Given the description of an element on the screen output the (x, y) to click on. 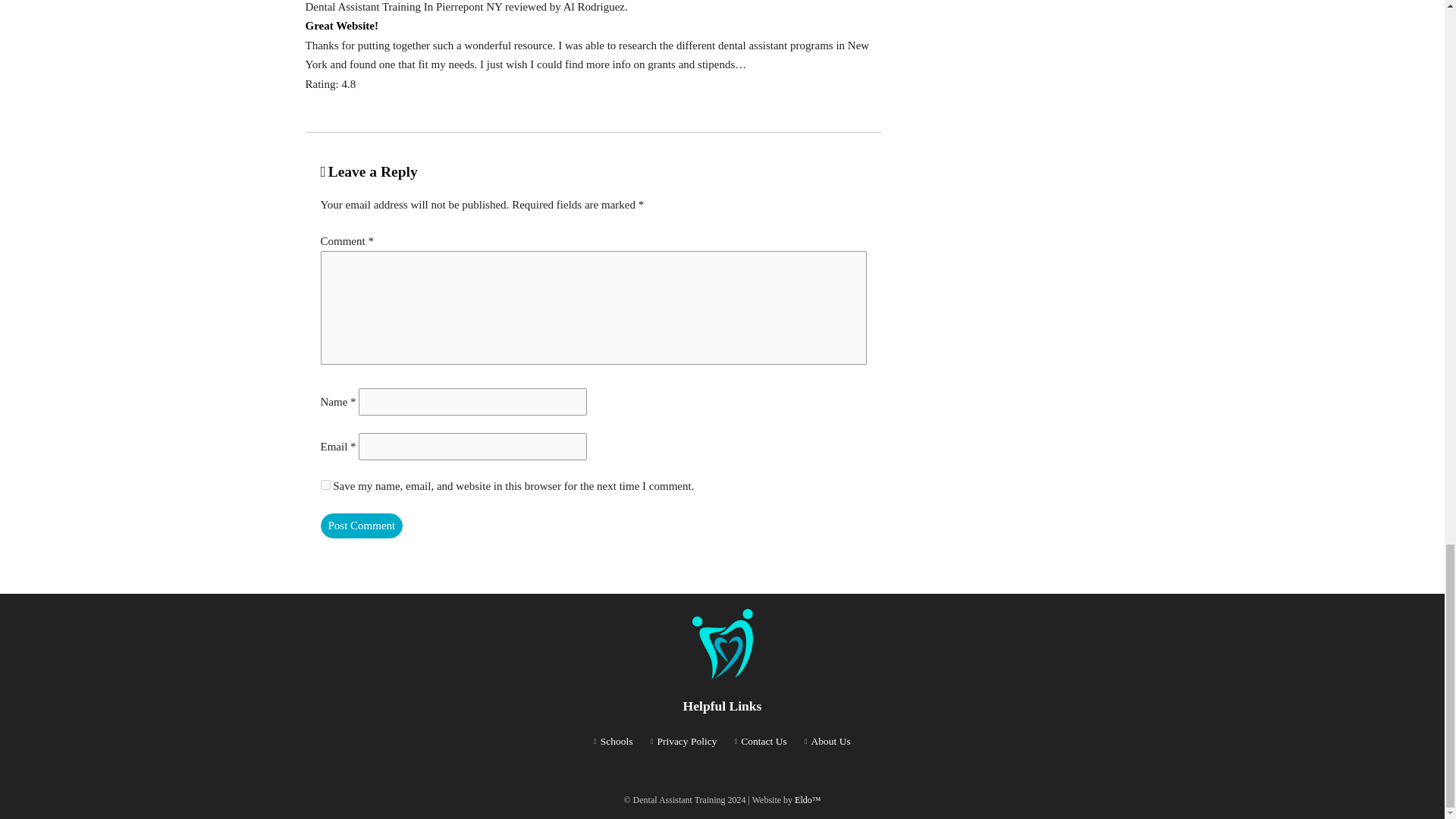
Schools (616, 740)
Privacy Policy (686, 740)
Post Comment (361, 525)
Post Comment (361, 525)
About Us (830, 740)
Contact Us (763, 740)
yes (325, 484)
